Given the description of an element on the screen output the (x, y) to click on. 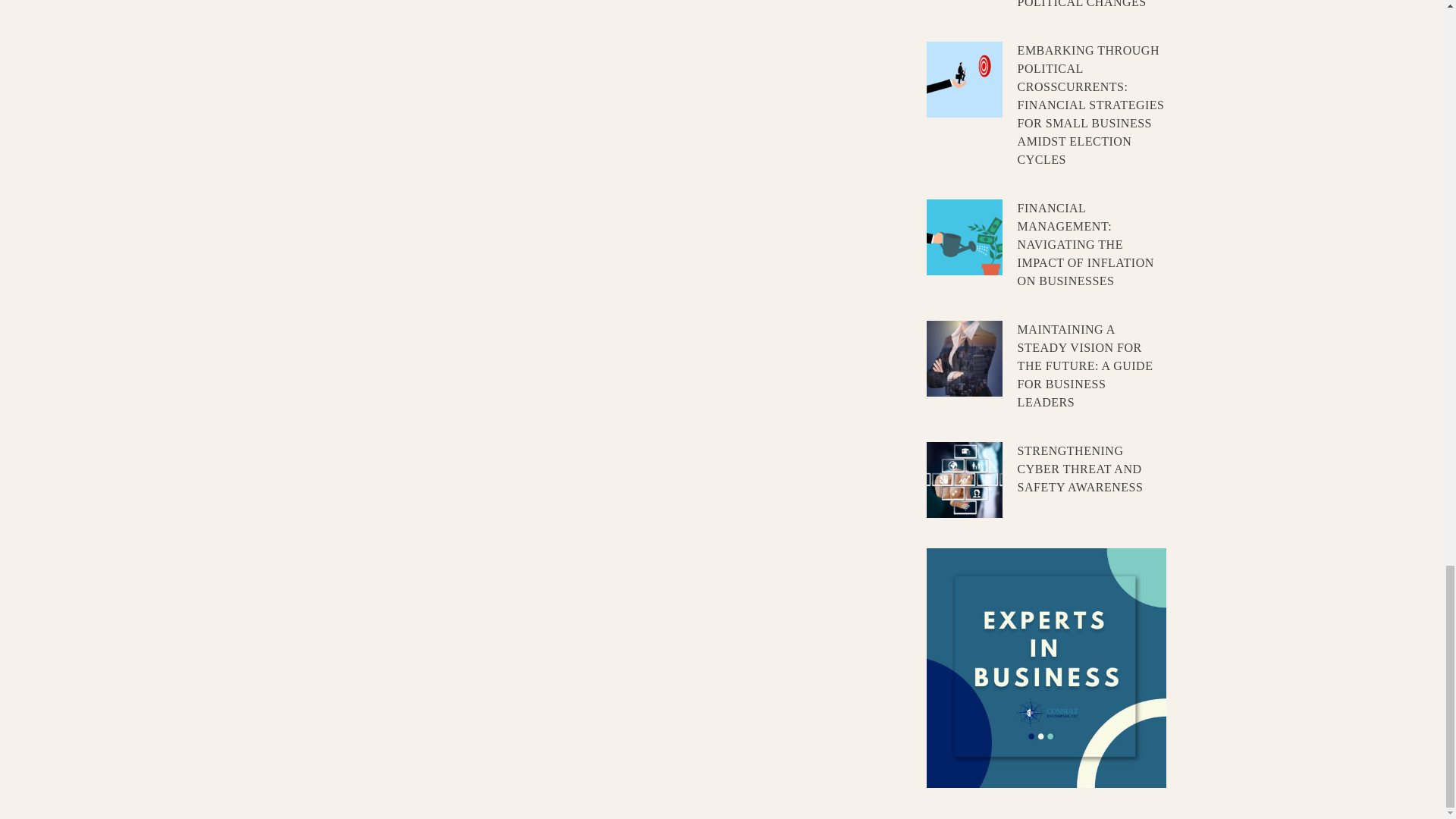
STRENGTHENING CYBER THREAT AND SAFETY AWARENESS (1079, 468)
